Given the description of an element on the screen output the (x, y) to click on. 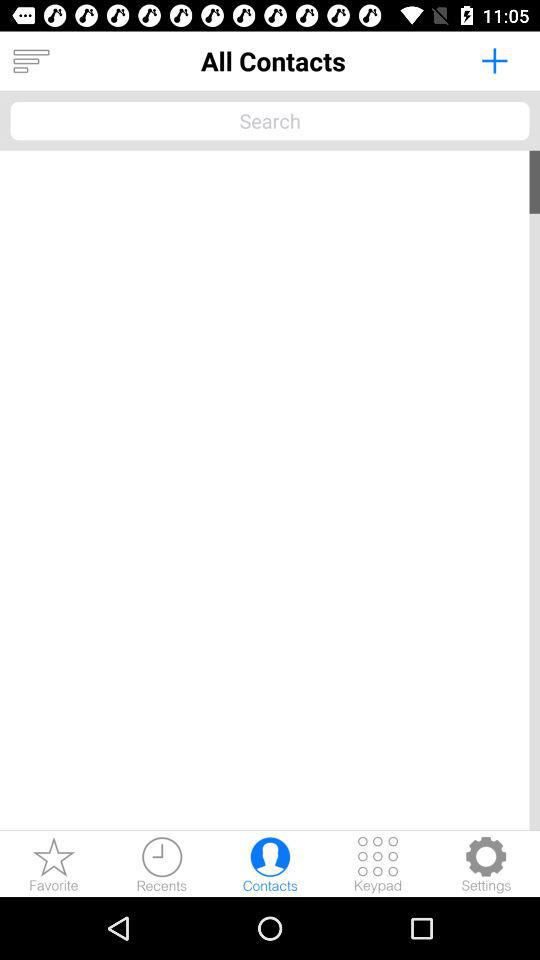
enter search text (270, 120)
